Given the description of an element on the screen output the (x, y) to click on. 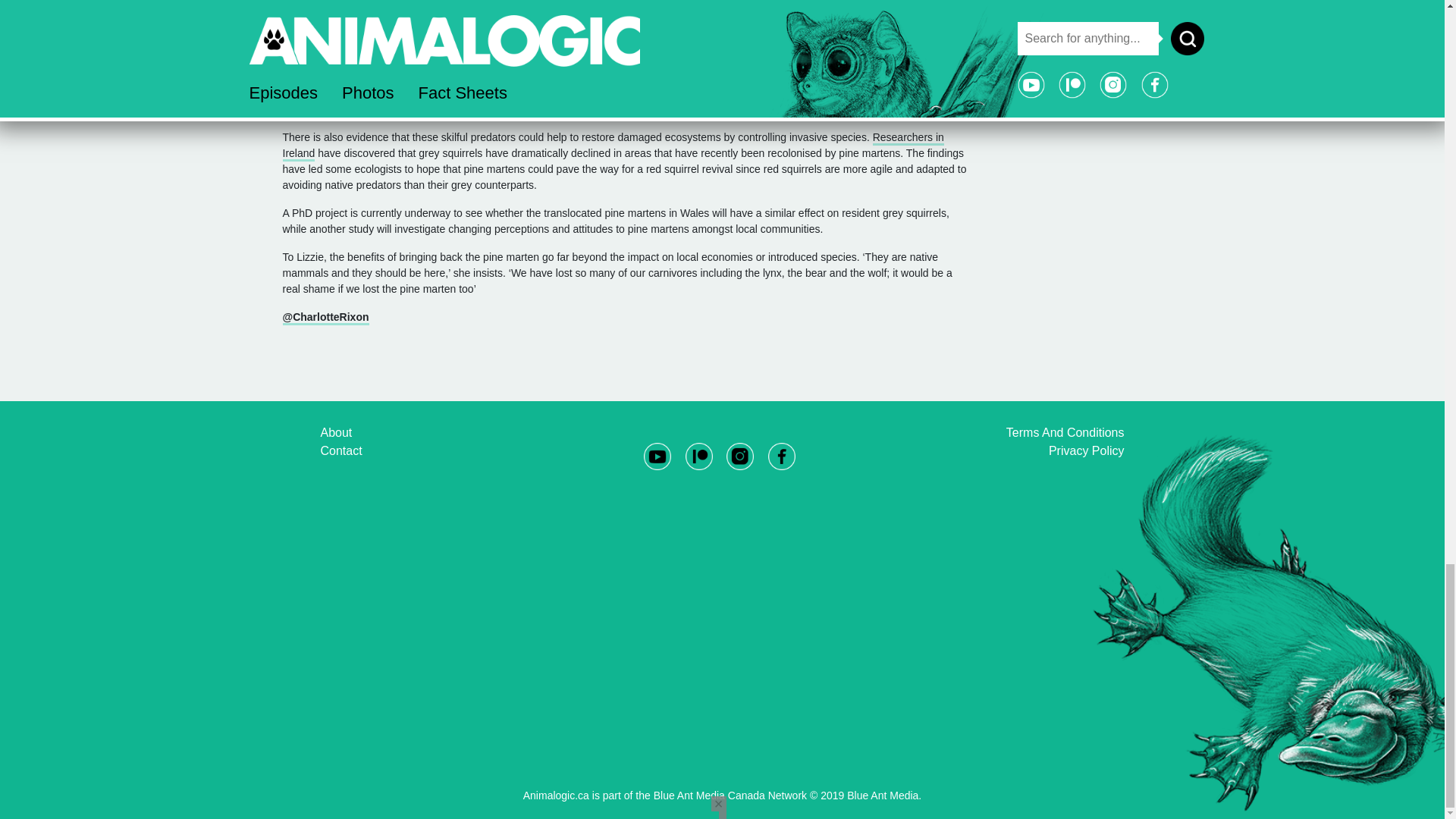
Researchers in Ireland (612, 146)
Speyside Wildlife (509, 93)
About (336, 431)
